Given the description of an element on the screen output the (x, y) to click on. 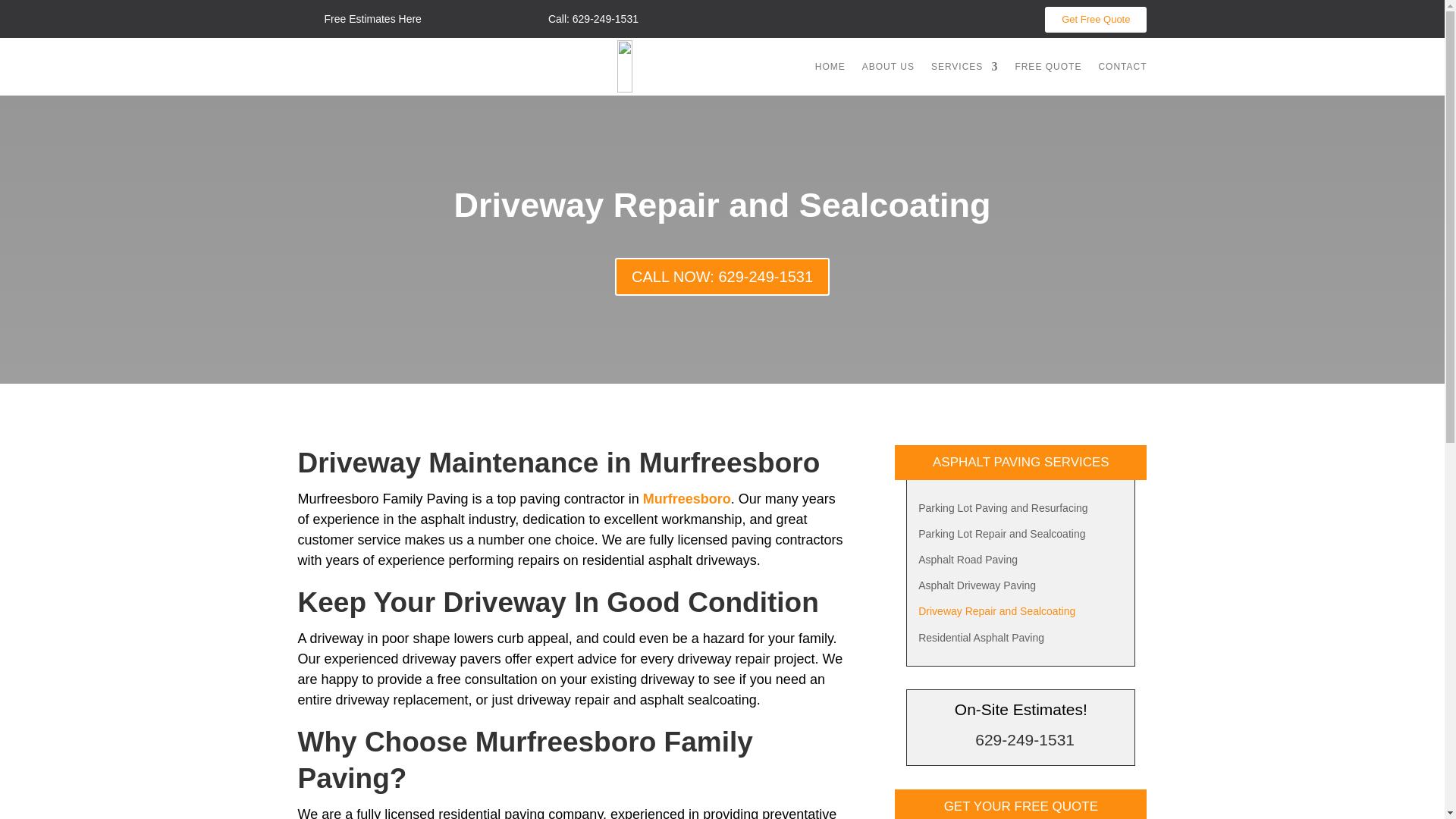
629-249-1531 (1024, 739)
CALL NOW: 629-249-1531 (721, 276)
Murfreesboro (686, 498)
Get Free Quote (1096, 19)
HOME (830, 66)
SERVICES (964, 66)
Asphalt Driveway Paving (976, 588)
FREE QUOTE (1047, 66)
Asphalt Road Paving (967, 562)
Driveway Repair and Sealcoating (996, 614)
CONTACT (1122, 66)
Parking Lot Paving and Resurfacing (1002, 510)
Parking Lot Repair and Sealcoating (1001, 537)
Residential Asphalt Paving (980, 640)
ABOUT US (887, 66)
